Given the description of an element on the screen output the (x, y) to click on. 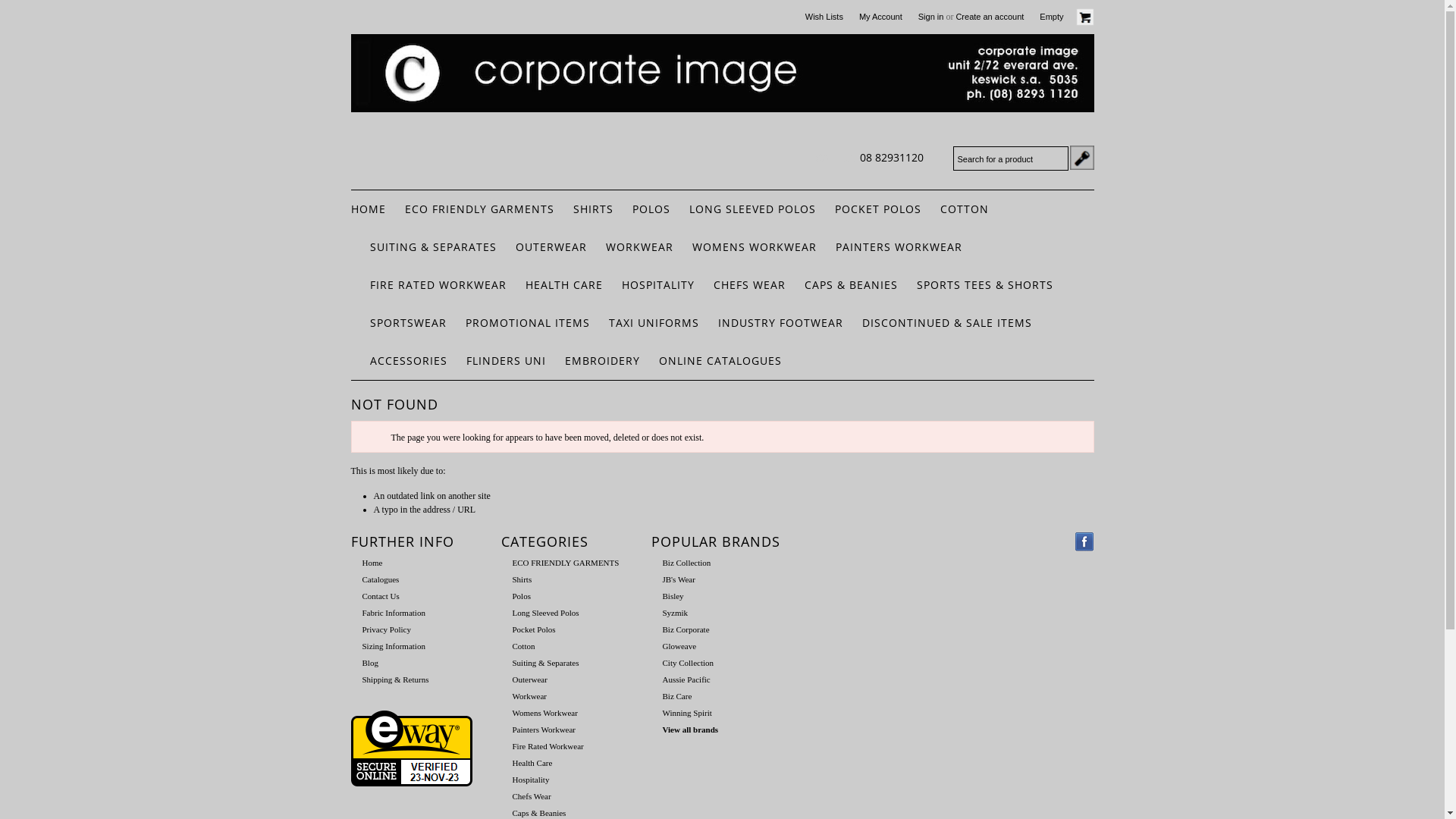
INDUSTRY FOOTWEAR Element type: text (779, 323)
Workwear Element type: text (529, 695)
OUTERWEAR Element type: text (550, 247)
PAINTERS WORKWEAR Element type: text (898, 247)
Winning Spirit Element type: text (687, 712)
Gloweave Element type: text (679, 645)
Sizing Information Element type: text (393, 645)
Outerwear Element type: text (529, 679)
Facebook Element type: text (1084, 541)
Polos Element type: text (521, 595)
Home Element type: text (372, 562)
Health Care Element type: text (532, 762)
ONLINE CATALOGUES Element type: text (719, 360)
SHIRTS Element type: text (593, 209)
My Account Element type: text (880, 16)
Aussie Pacific Element type: text (686, 679)
Painters Workwear Element type: text (544, 729)
Caps & Beanies Element type: text (539, 812)
EMBROIDERY Element type: text (601, 360)
HEALTH CARE Element type: text (563, 285)
Biz Collection Element type: text (686, 562)
View all brands Element type: text (690, 729)
PROMOTIONAL ITEMS Element type: text (527, 323)
Fabric Information Element type: text (393, 612)
Pocket Polos Element type: text (533, 628)
Womens Workwear Element type: text (544, 712)
Empty Element type: text (1066, 16)
ECO FRIENDLY GARMENTS Element type: text (565, 562)
Biz Corporate Element type: text (685, 628)
eWAY Payment Gateway Element type: hover (410, 783)
JB's Wear Element type: text (678, 578)
Long Sleeved Polos Element type: text (545, 612)
ECO FRIENDLY GARMENTS Element type: text (479, 209)
HOSPITALITY Element type: text (657, 285)
SPORTSWEAR Element type: text (408, 323)
Blog Element type: text (370, 662)
WORKWEAR Element type: text (638, 247)
Catalogues Element type: text (380, 578)
Wish Lists Element type: text (824, 16)
Suiting & Separates Element type: text (545, 662)
Hospitality Element type: text (530, 779)
POLOS Element type: text (651, 209)
SUITING & SEPARATES Element type: text (433, 247)
WOMENS WORKWEAR Element type: text (753, 247)
CHEFS WEAR Element type: text (748, 285)
Syzmik Element type: text (675, 612)
TAXI UNIFORMS Element type: text (653, 323)
Create an account Element type: text (989, 16)
ACCESSORIES Element type: text (408, 360)
HOME Element type: text (367, 209)
Privacy Policy Element type: text (386, 628)
GO Element type: text (1081, 157)
Shirts Element type: text (522, 578)
Fire Rated Workwear Element type: text (547, 745)
Bisley Element type: text (673, 595)
City Collection Element type: text (688, 662)
FLINDERS UNI Element type: text (505, 360)
Chefs Wear Element type: text (531, 795)
DISCONTINUED & SALE ITEMS Element type: text (946, 323)
LONG SLEEVED POLOS Element type: text (751, 209)
FIRE RATED WORKWEAR Element type: text (438, 285)
POCKET POLOS Element type: text (877, 209)
Contact Us Element type: text (380, 595)
Shipping & Returns Element type: text (395, 679)
Sign in Element type: text (931, 16)
SPORTS TEES & SHORTS Element type: text (984, 285)
Cotton Element type: text (523, 645)
CAPS & BEANIES Element type: text (850, 285)
Biz Care Element type: text (677, 695)
COTTON Element type: text (964, 209)
